Given the description of an element on the screen output the (x, y) to click on. 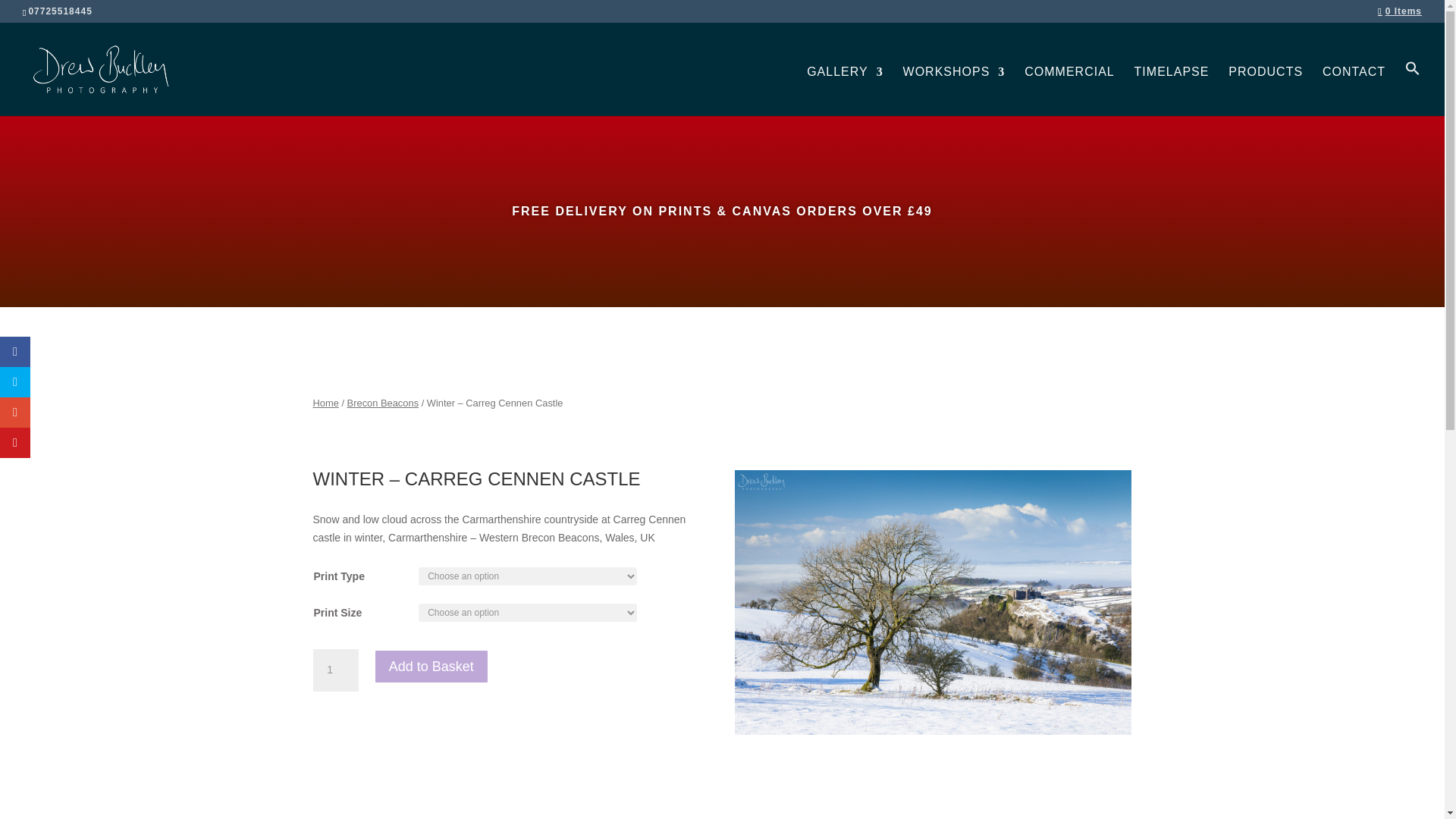
WORKSHOPS (954, 90)
CONTACT (1354, 90)
TIMELAPSE (1171, 90)
GALLERY (844, 90)
Winter - Carreg Cennen Castle (933, 602)
PRODUCTS (1265, 90)
1 (335, 670)
0 Items (1399, 10)
COMMERCIAL (1069, 90)
